Given the description of an element on the screen output the (x, y) to click on. 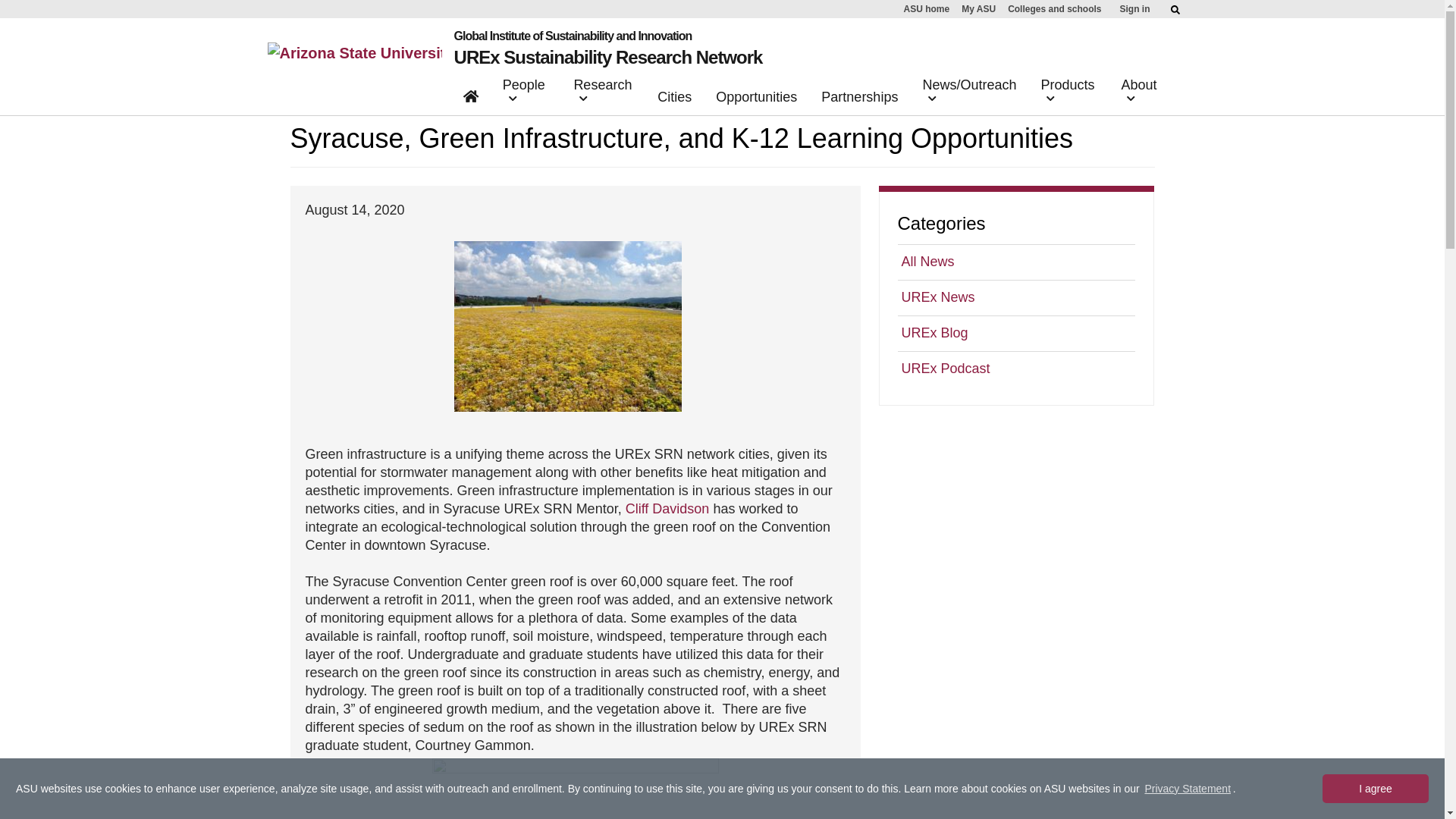
Sign in (1134, 9)
My ASU (978, 9)
Cities (673, 100)
Global Institute of Sustainability and Innovation (608, 36)
Products (1067, 93)
Home (470, 99)
Research (603, 93)
Privacy Statement (1187, 788)
Partnerships (859, 100)
People (526, 93)
ASU home (927, 9)
Opportunities (756, 100)
UREx Sustainability Research Network (608, 56)
I agree (1375, 788)
